Given the description of an element on the screen output the (x, y) to click on. 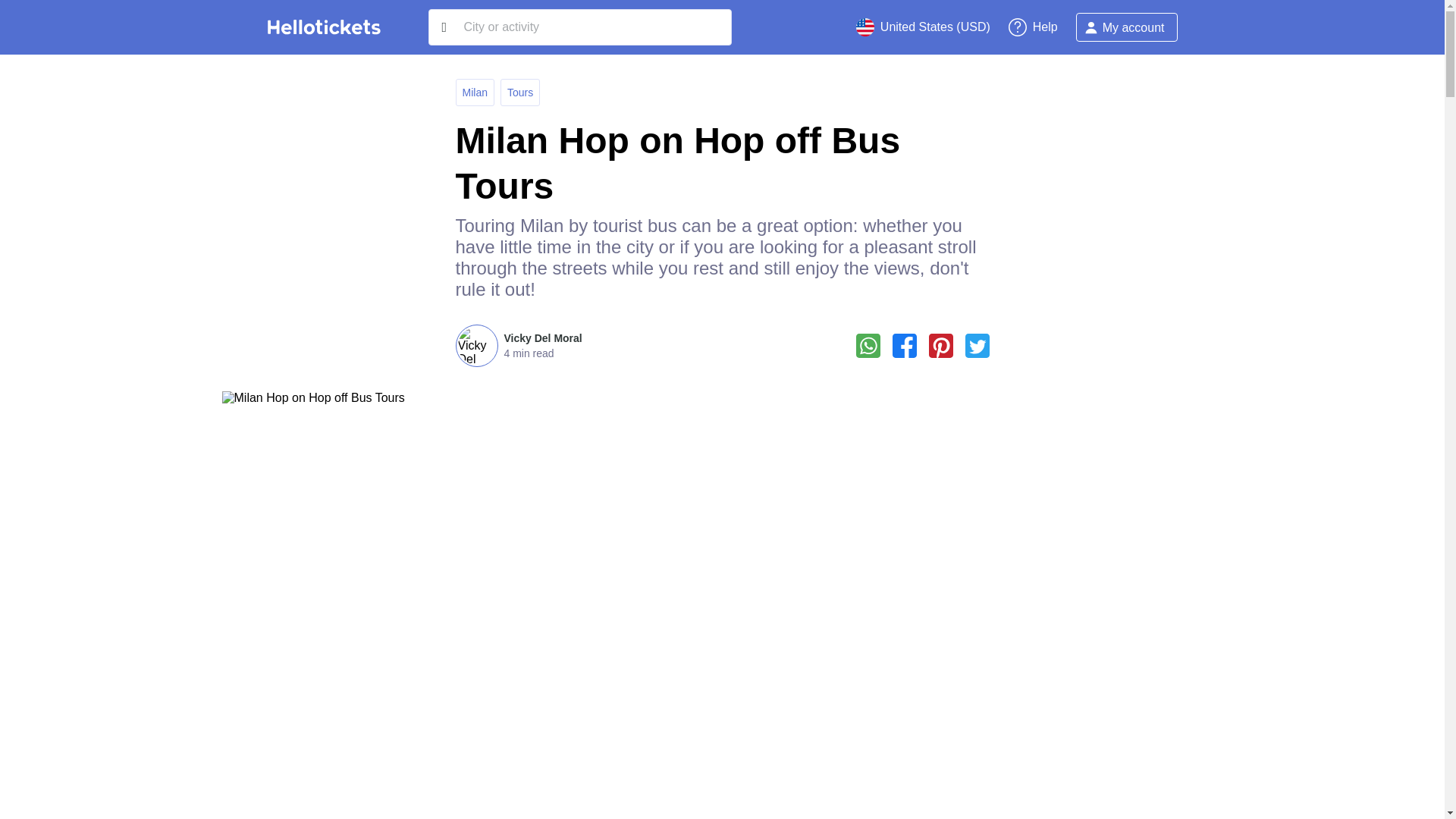
Milan (475, 92)
My account (1126, 27)
Help (1032, 27)
Tours (519, 92)
